Given the description of an element on the screen output the (x, y) to click on. 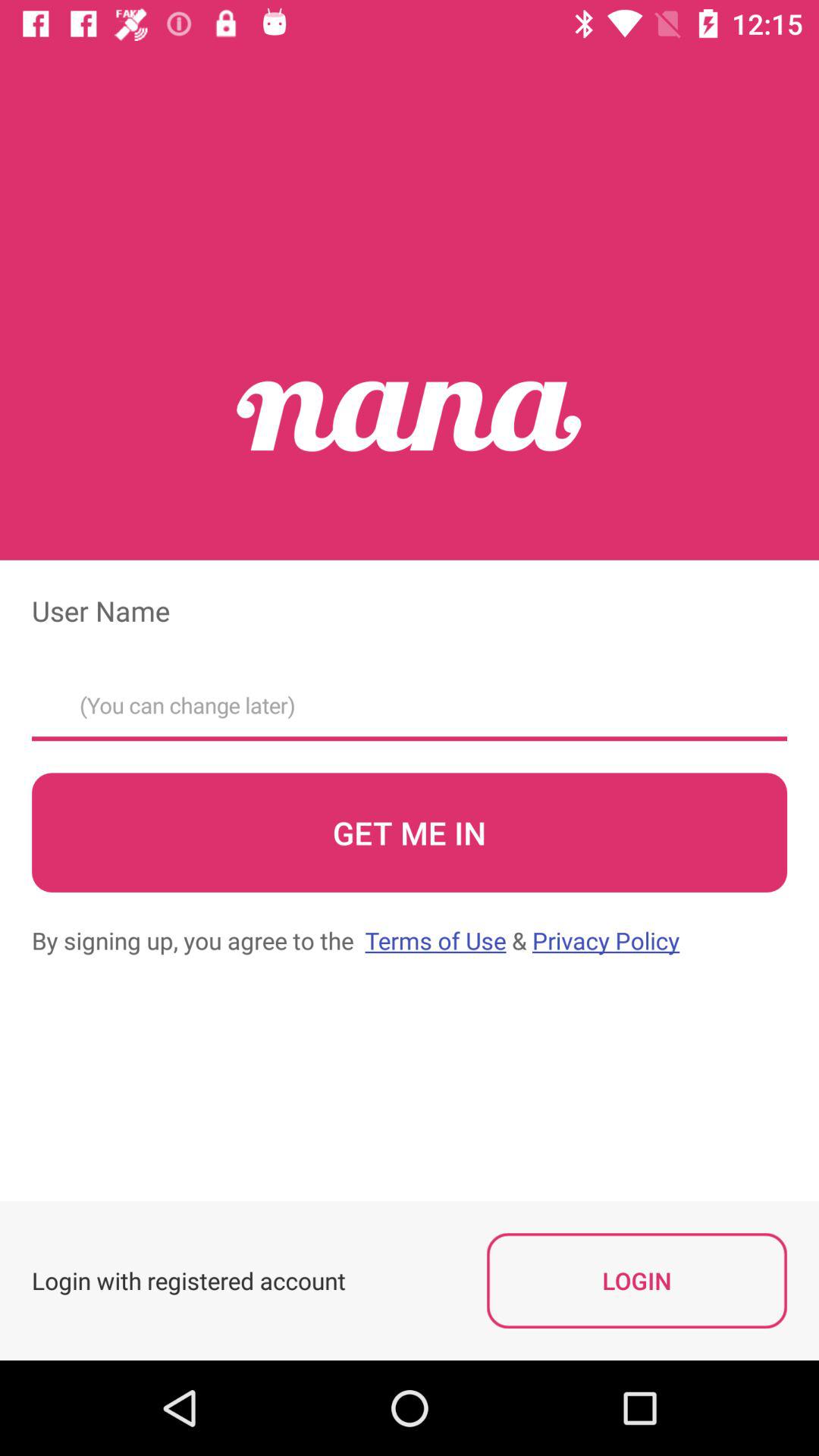
enter username (409, 701)
